Given the description of an element on the screen output the (x, y) to click on. 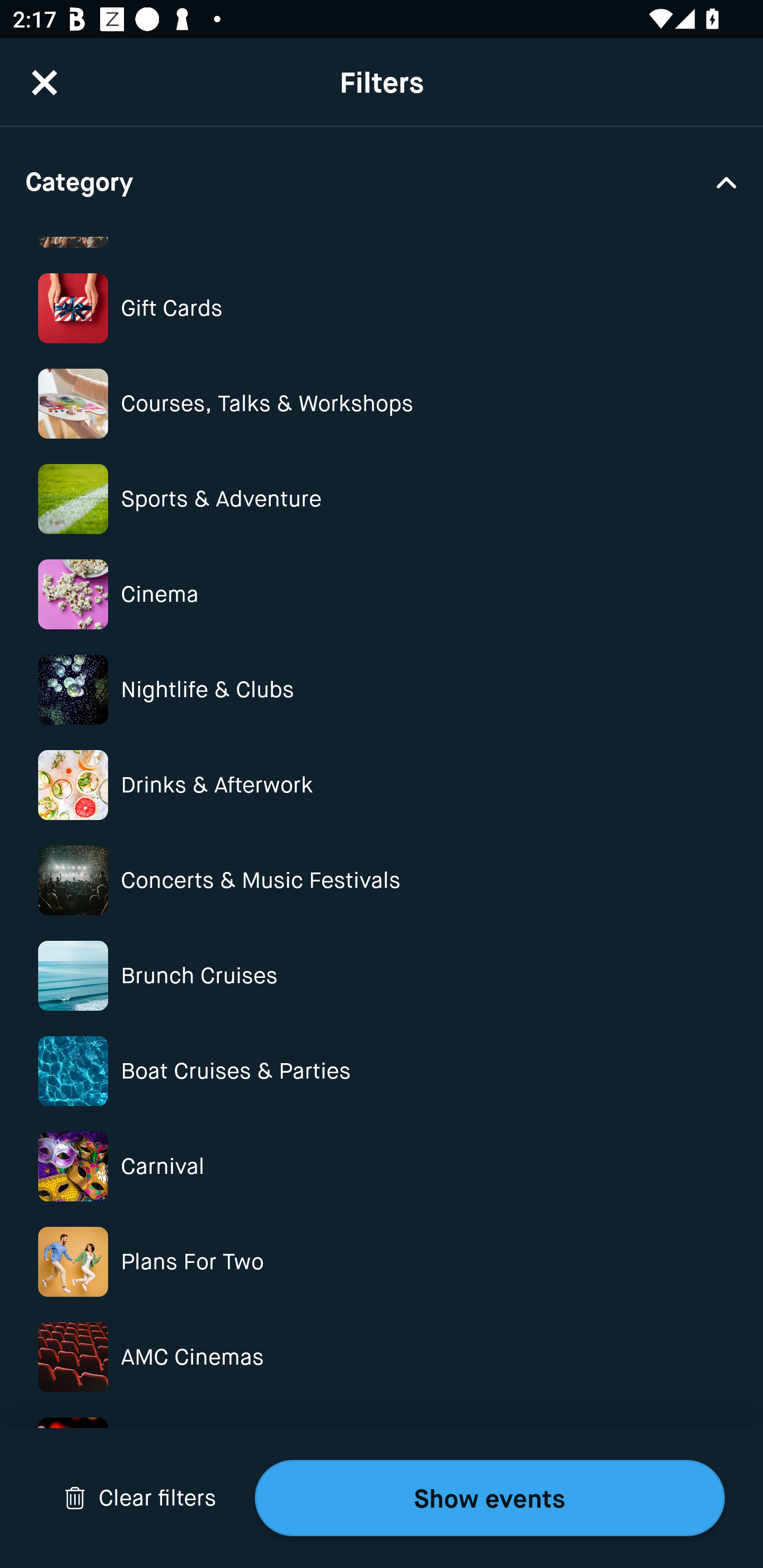
Category Drop Down Arrow (381, 181)
Category Image Gift Cards (381, 307)
Category Image Courses, Talks & Workshops (381, 403)
Category Image Sports & Adventure (381, 498)
Category Image Cinema (381, 593)
Category Image Nightlife & Clubs (381, 689)
Category Image Drinks & Afterwork (381, 784)
Category Image Concerts & Music Festivals (381, 880)
Category Image Brunch Cruises (381, 975)
Category Image Boat Cruises & Parties (381, 1070)
Category Image Carnival (381, 1166)
Category Image Plans For Two (381, 1261)
Category Image AMC Cinemas (381, 1356)
Drop Down Arrow Clear filters (139, 1497)
Show events (489, 1497)
